Given the description of an element on the screen output the (x, y) to click on. 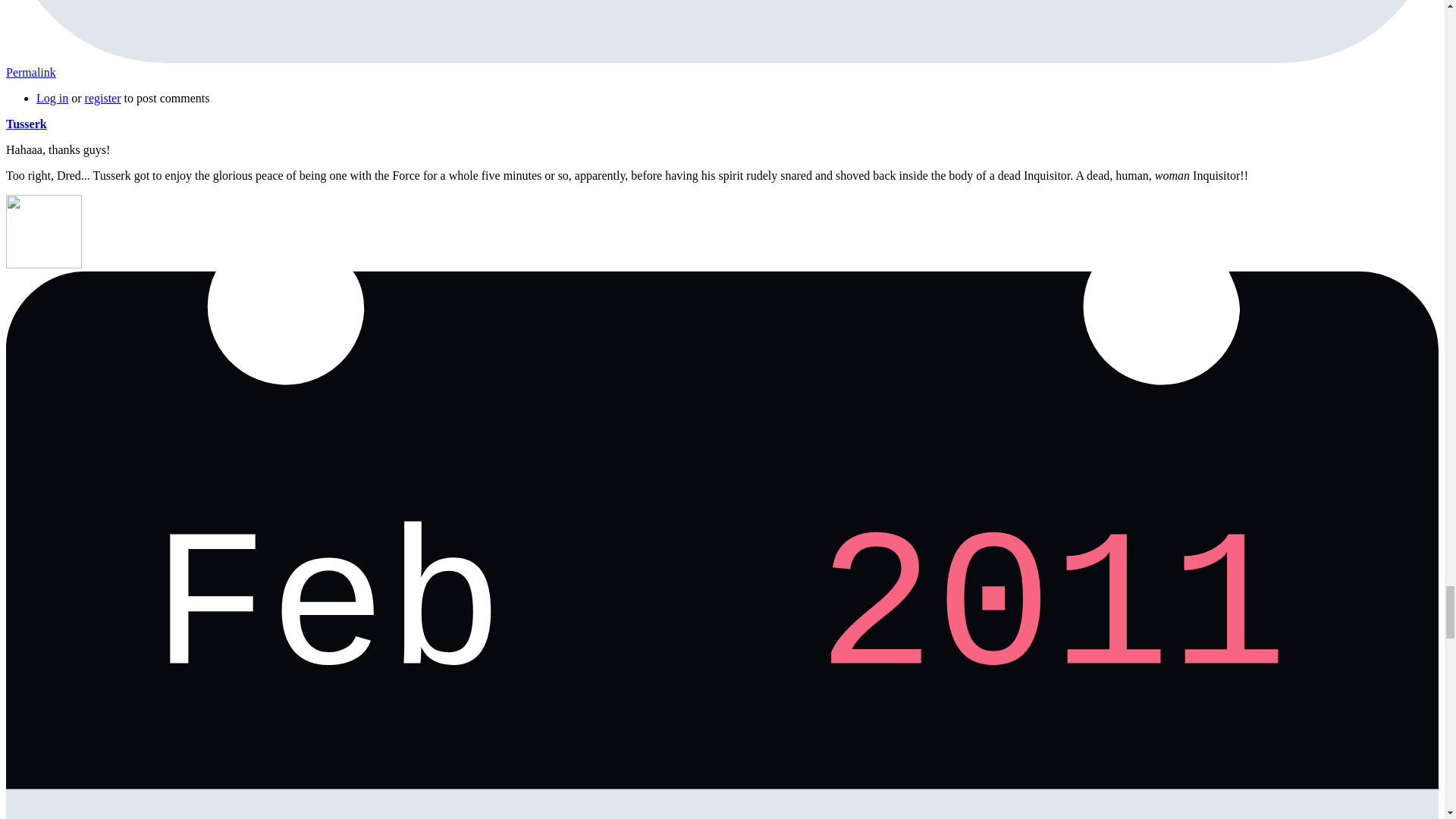
Tusserk (25, 123)
Permalink (30, 72)
register (102, 97)
View user profile. (25, 123)
Log in (52, 97)
